Given the description of an element on the screen output the (x, y) to click on. 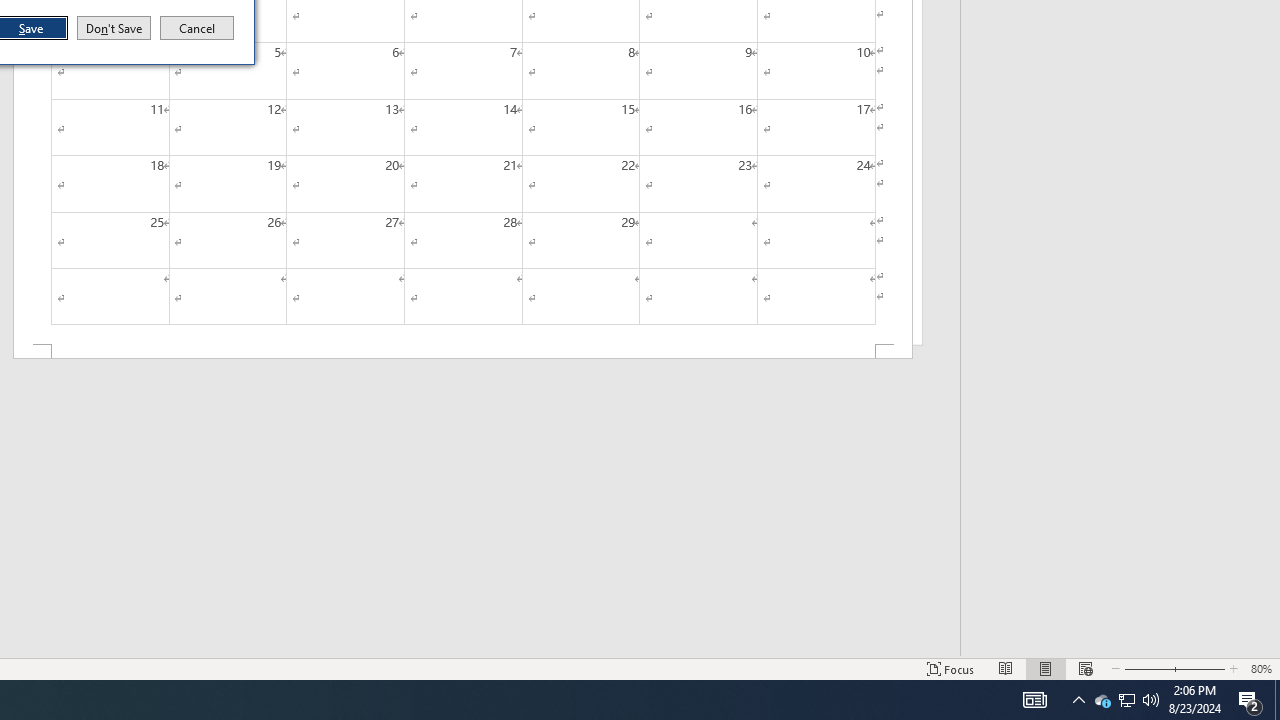
Q2790: 100% (1151, 699)
Cancel (197, 27)
AutomationID: 4105 (1034, 699)
Show desktop (1277, 699)
